Given the description of an element on the screen output the (x, y) to click on. 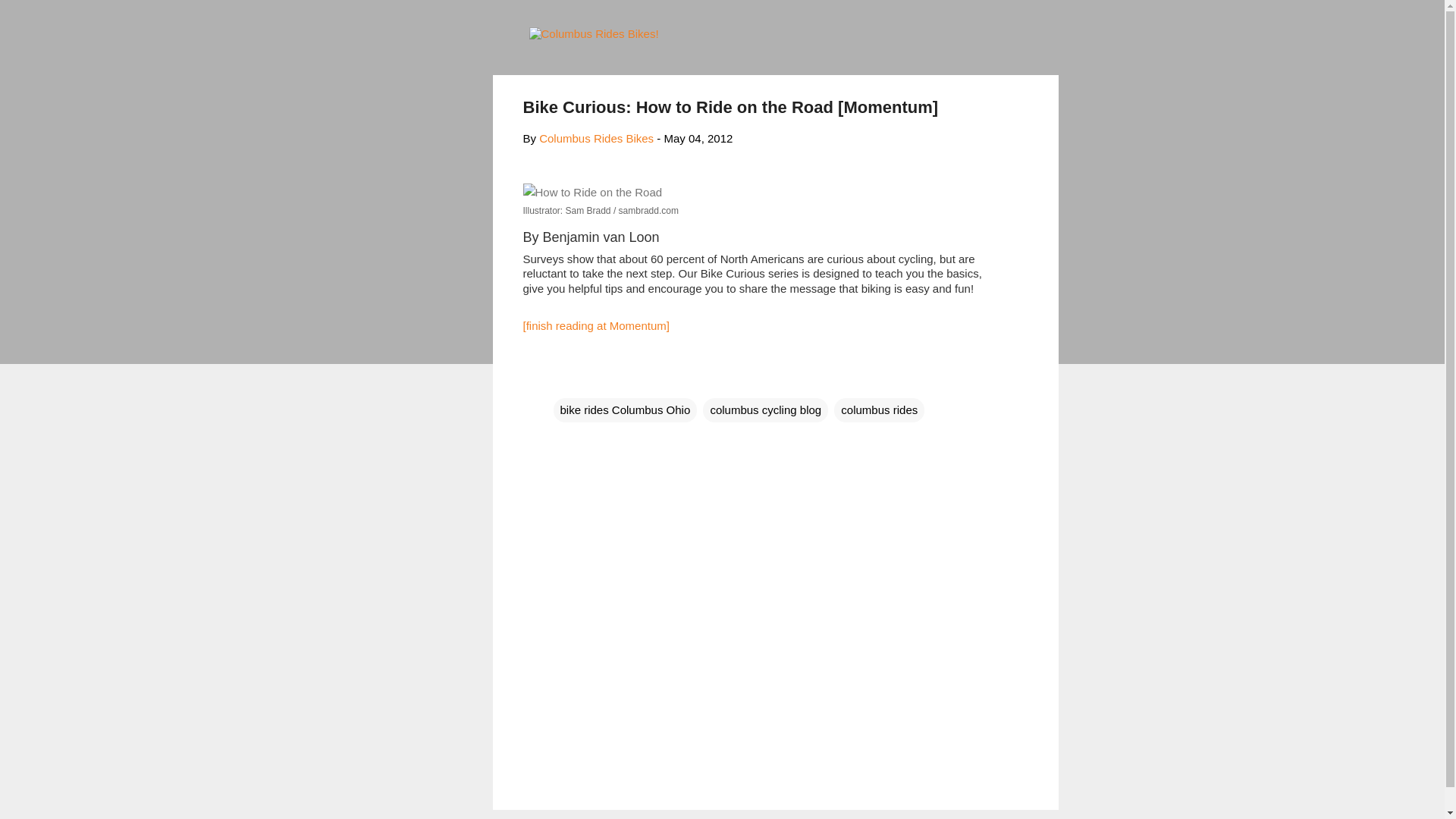
Columbus Rides Bikes (595, 137)
permanent link (697, 137)
May 04, 2012 (697, 137)
columbus cycling blog (765, 410)
author profile (595, 137)
columbus rides (879, 410)
Email Post (562, 379)
bike rides Columbus Ohio (625, 410)
Search (29, 18)
How to Ride on the Road (592, 192)
